Given the description of an element on the screen output the (x, y) to click on. 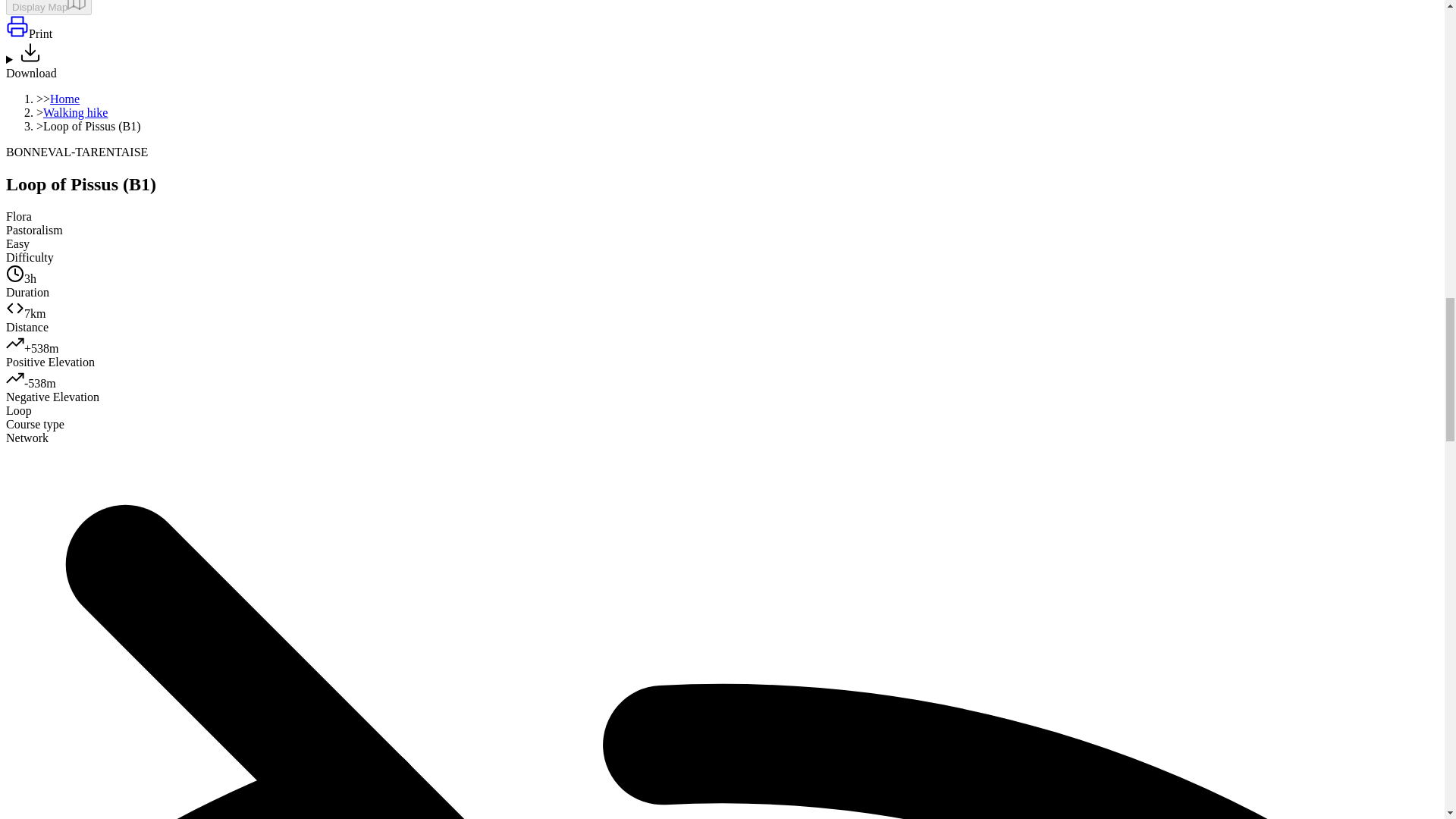
Walking hike (75, 112)
Display Map (48, 7)
Home (64, 98)
